Given the description of an element on the screen output the (x, y) to click on. 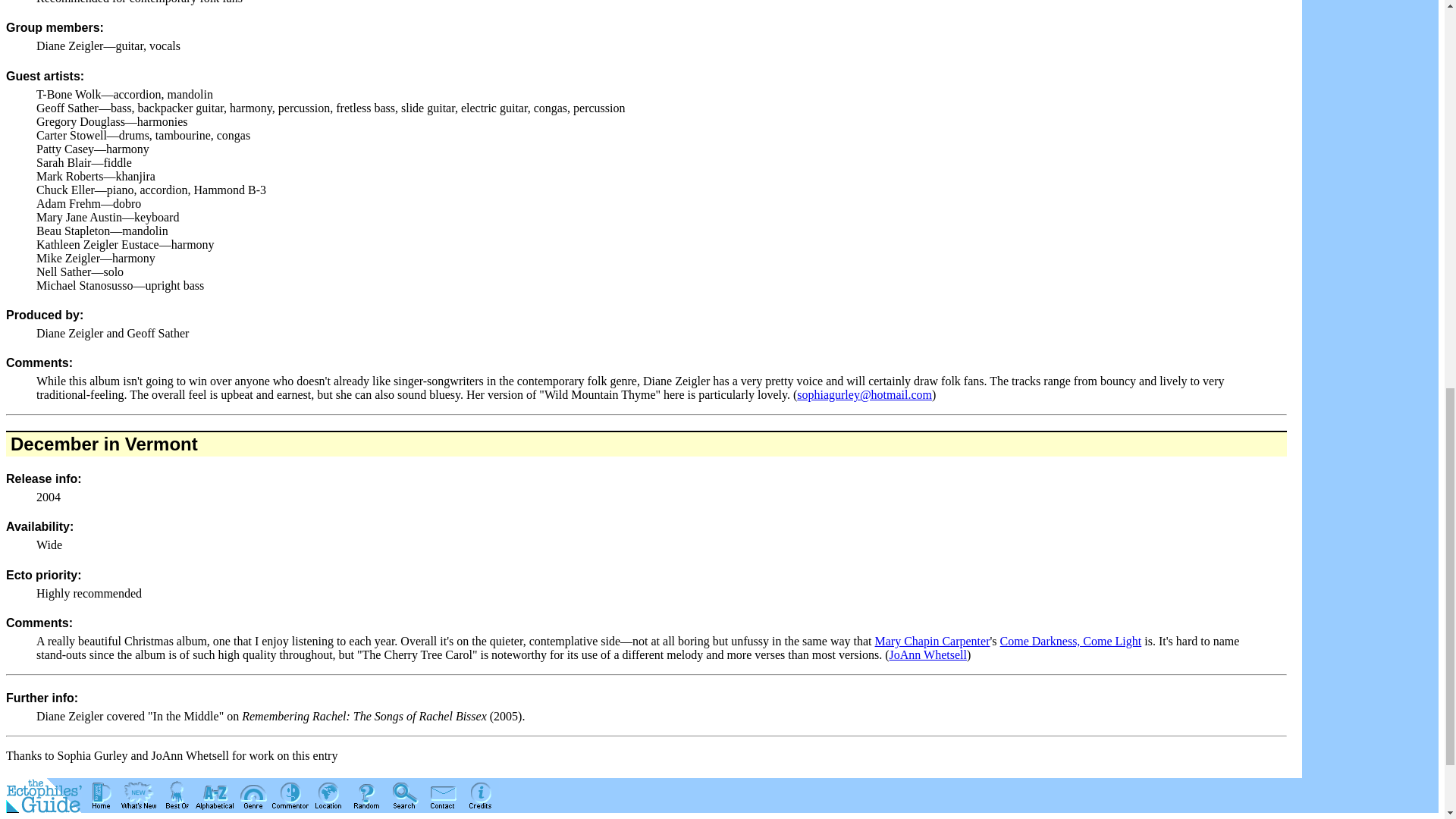
Mary Chapin Carpenter (932, 640)
December in Vermont (104, 444)
Come Darkness, Come Light (1070, 640)
JoAnn Whetsell (927, 654)
